Given the description of an element on the screen output the (x, y) to click on. 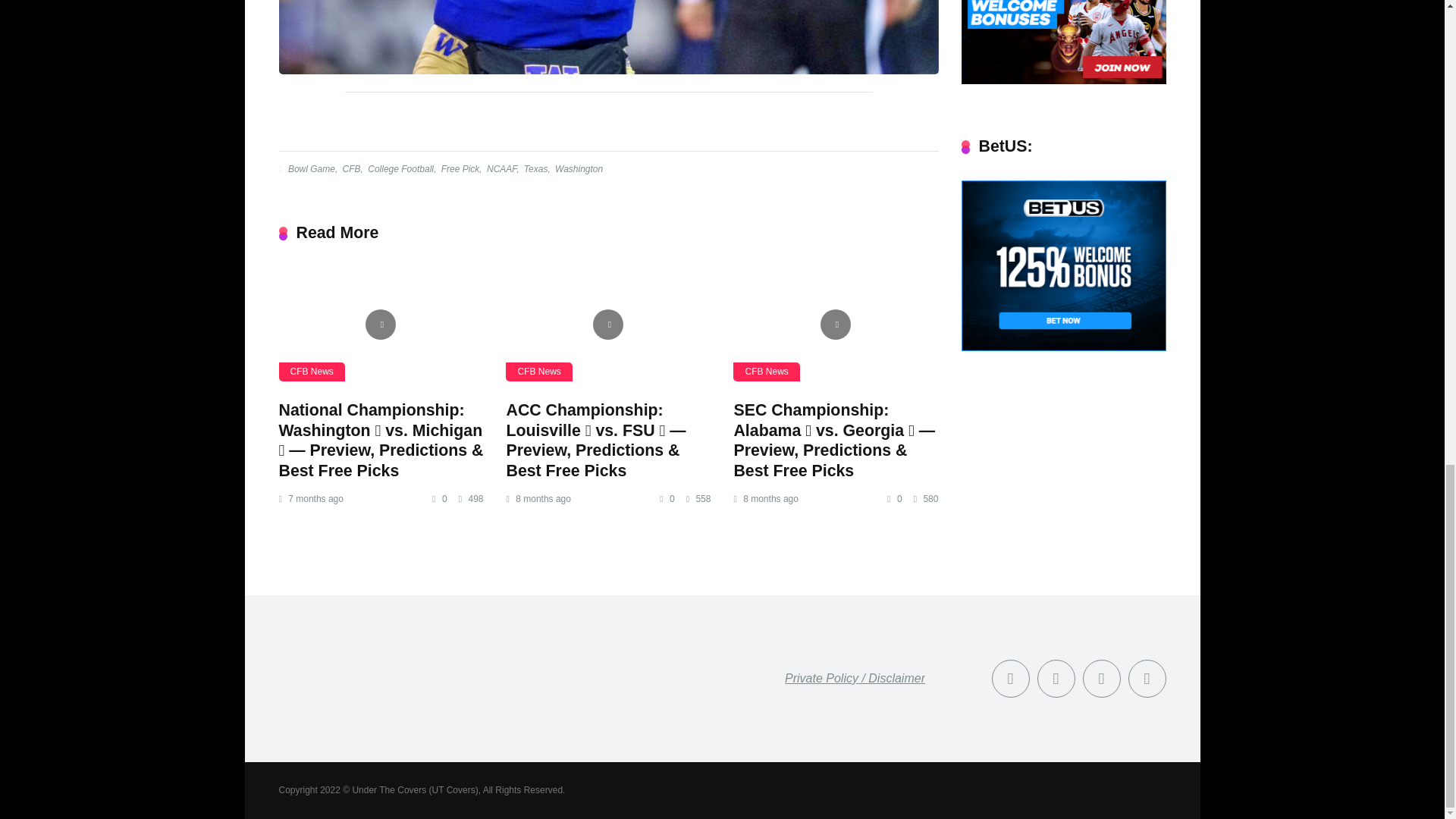
Bowl Game (309, 168)
College Football (399, 168)
Texas (534, 168)
Facebook (1010, 678)
NCAAF (500, 168)
CFB News (766, 371)
CFB (350, 168)
Instagram (1147, 678)
Free Pick (459, 168)
Twitter (1055, 678)
Washington (577, 168)
CFB News (312, 371)
CFB News (538, 371)
YouTube (1102, 678)
